Given the description of an element on the screen output the (x, y) to click on. 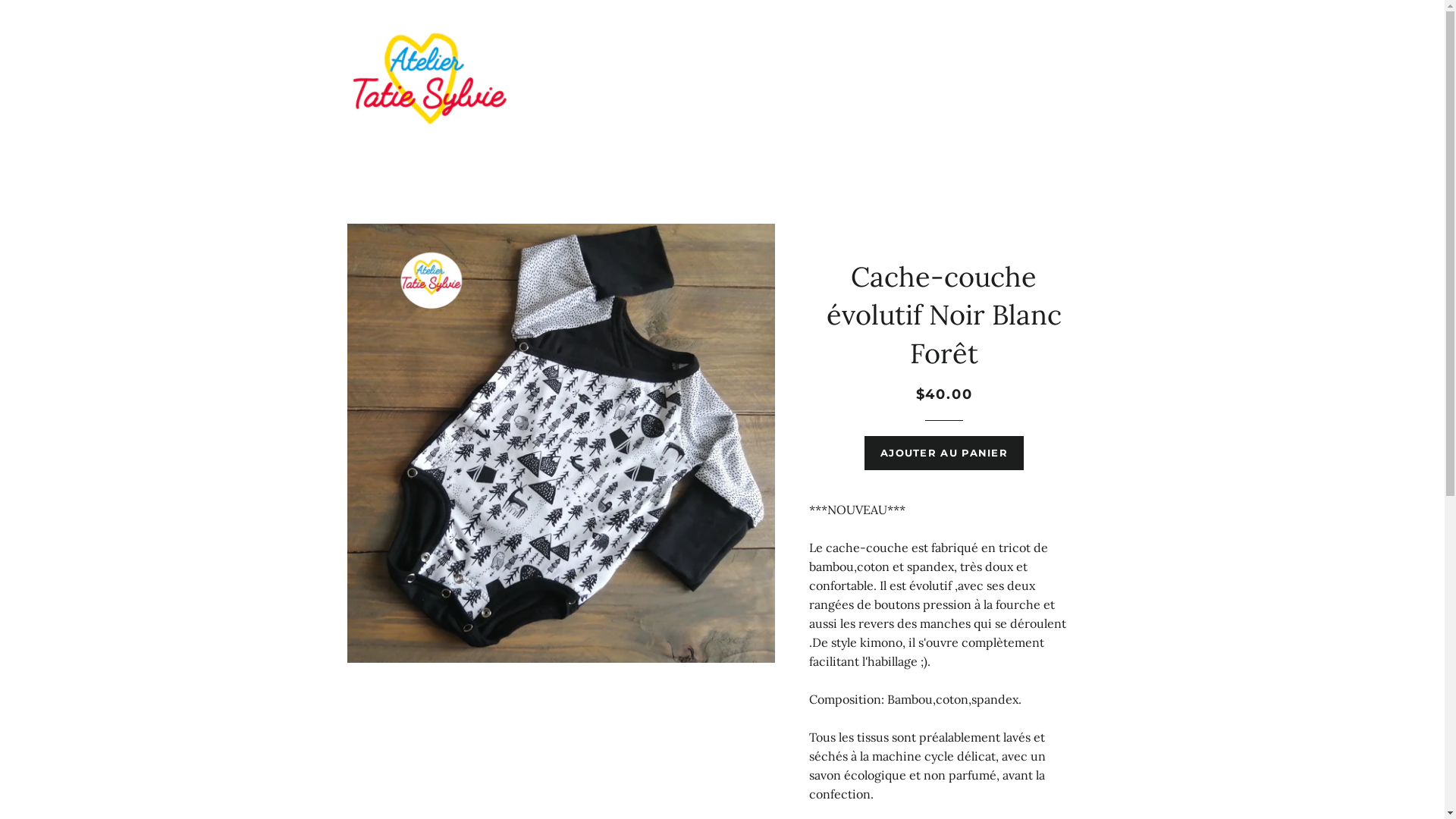
AJOUTER AU PANIER Element type: text (943, 452)
